Given the description of an element on the screen output the (x, y) to click on. 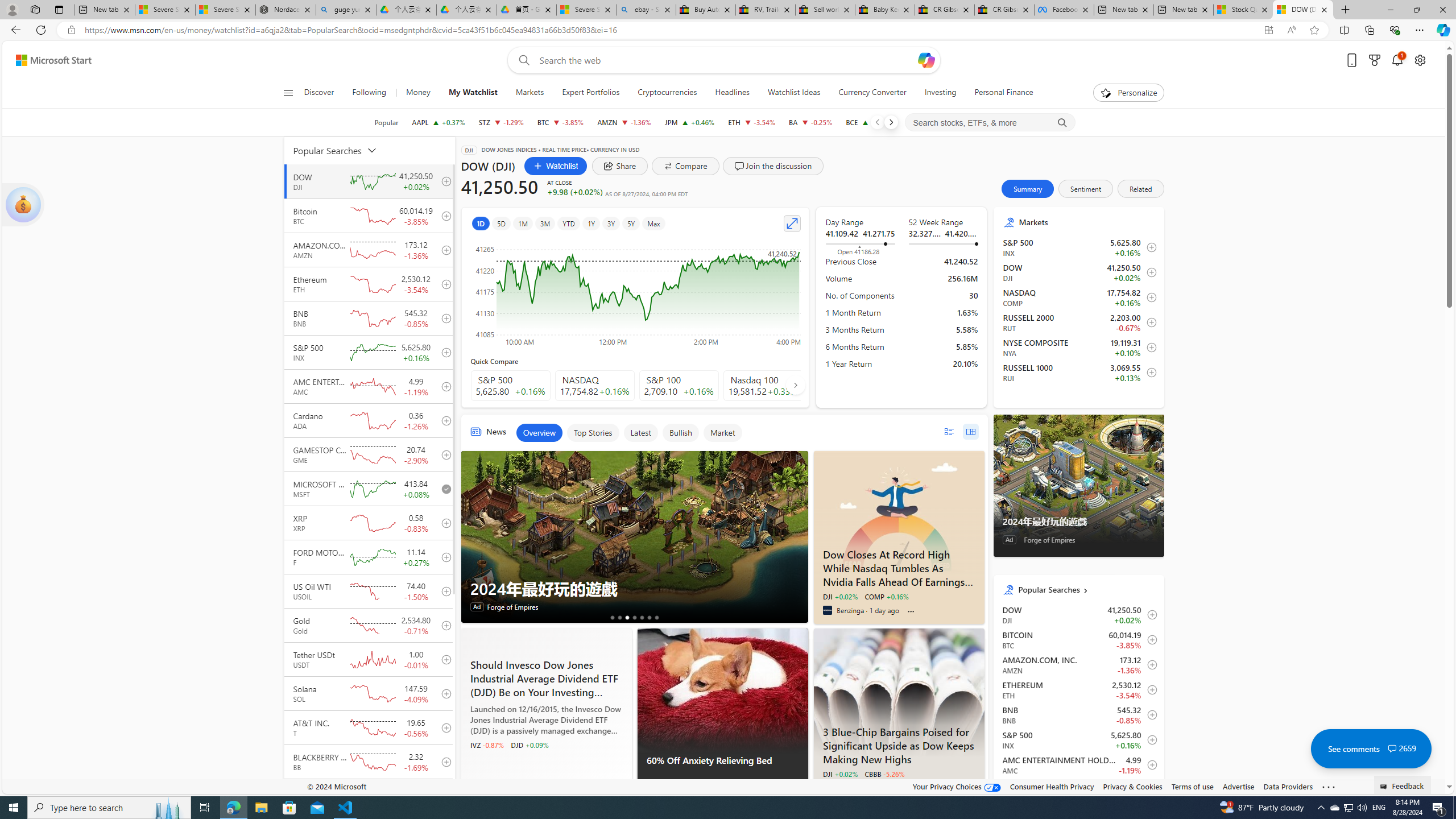
Markets (1086, 222)
5D (501, 223)
Cryptocurrencies (667, 92)
Bullish (680, 432)
Cryptocurrencies (667, 92)
See comments 2659 (1370, 748)
Money (417, 92)
INX S&P 500 increase 5,625.80 +8.96 +0.16% itemundefined (1078, 739)
3Y (611, 223)
COMP +0.16% (885, 596)
